Given the description of an element on the screen output the (x, y) to click on. 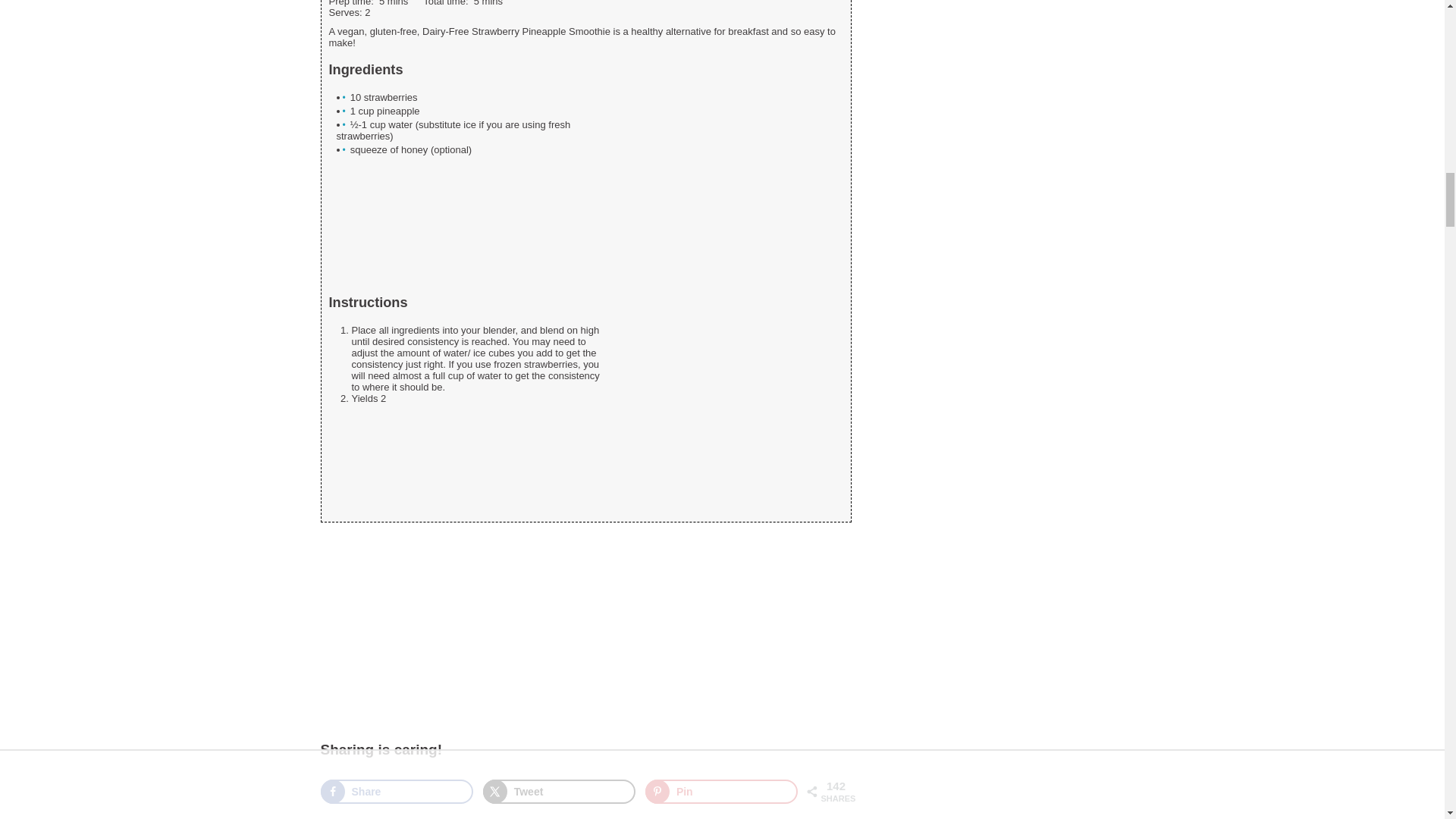
Share on Facebook (396, 791)
